Given the description of an element on the screen output the (x, y) to click on. 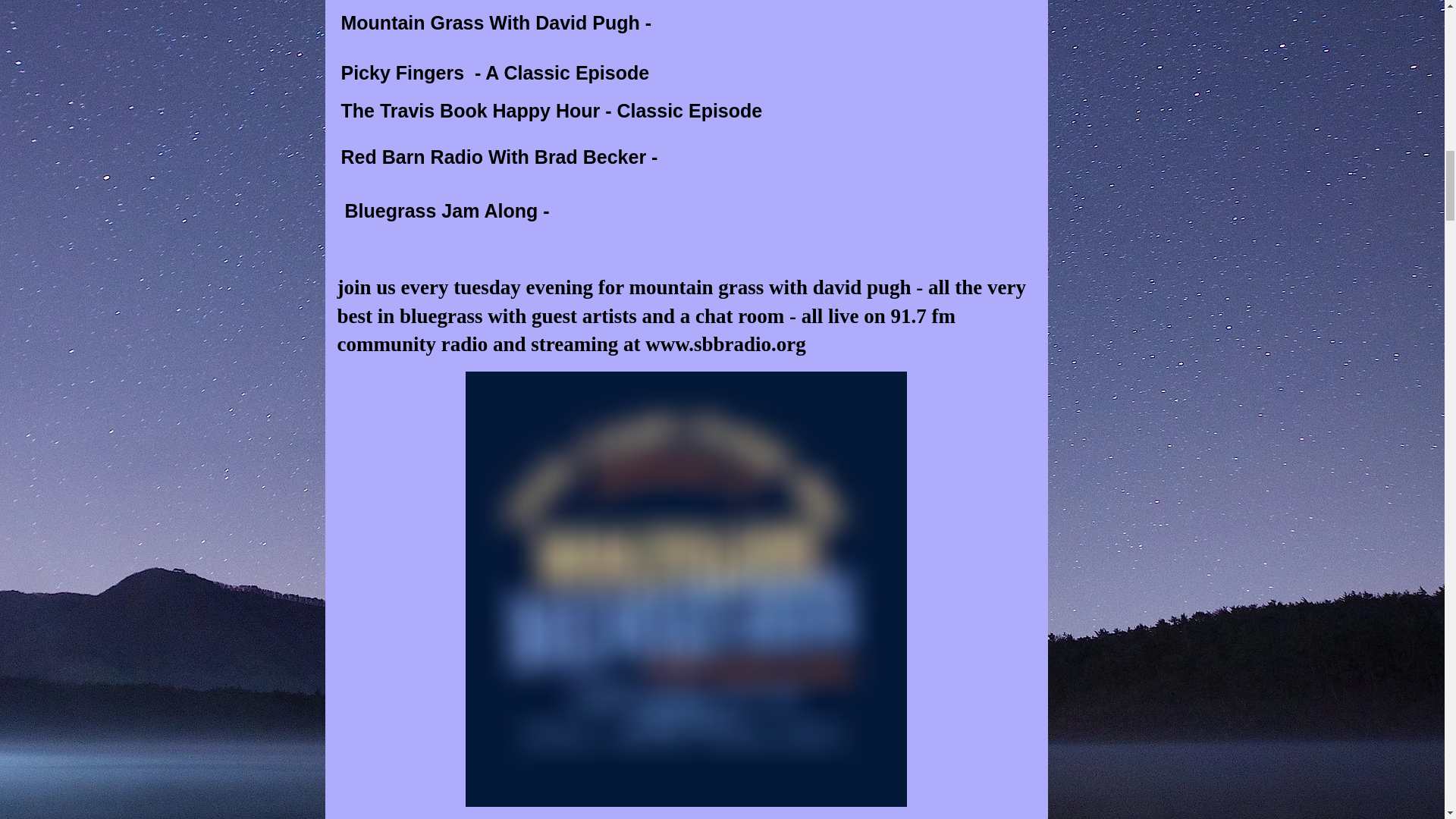
The Travis Book Happy Hour - Classic Episode (551, 110)
www.sbbradio.org (725, 343)
